Given the description of an element on the screen output the (x, y) to click on. 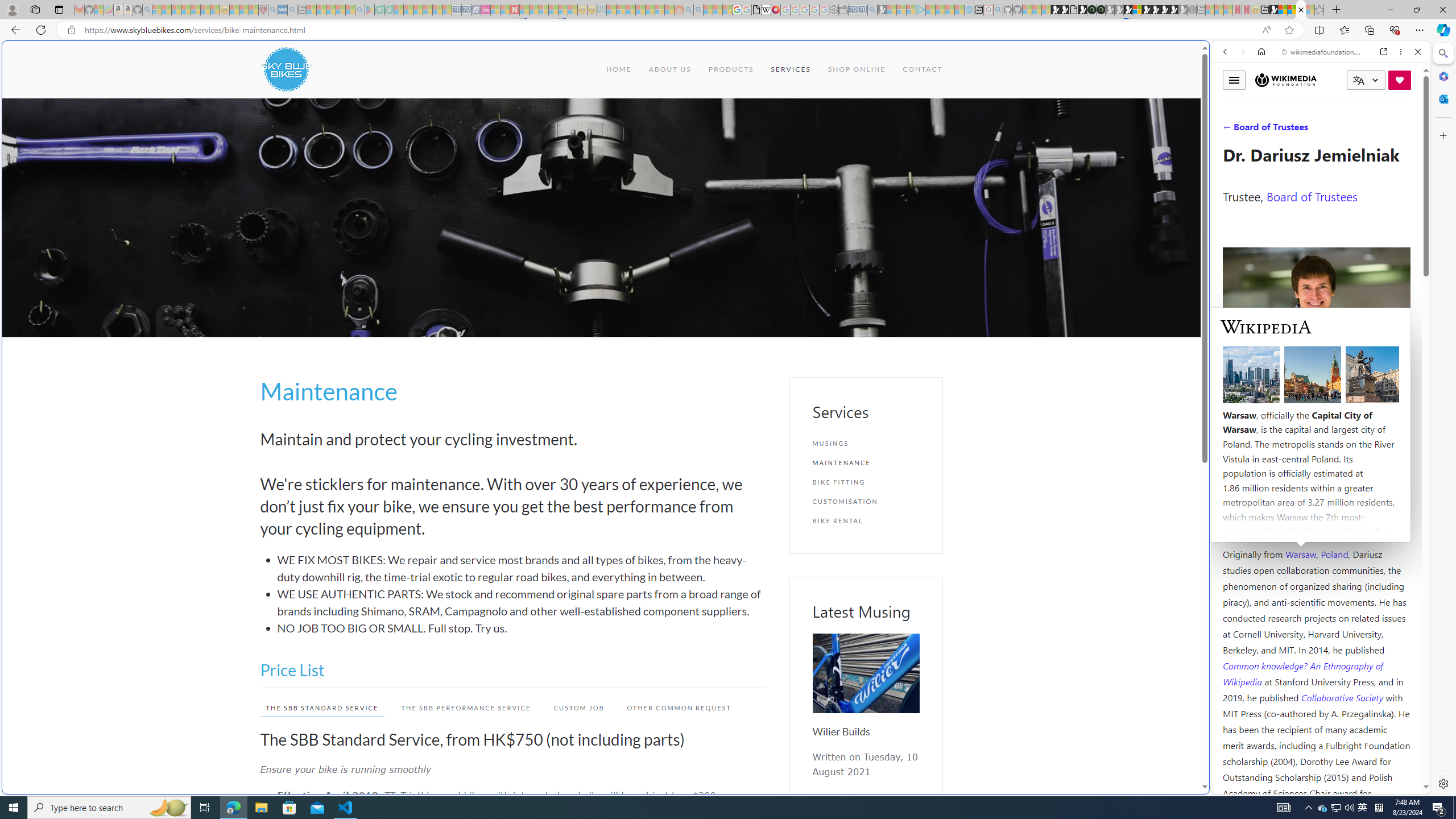
Cheap Car Rentals - Save70.com - Sleeping (862, 9)
Global web icon (1232, 786)
Class: b_serphb (1404, 130)
SHOP ONLINE (855, 68)
Tabs you've opened (885, 151)
Play Zoo Boom in your browser | Games from Microsoft Start (1064, 9)
PRODUCTS (730, 68)
